Given the description of an element on the screen output the (x, y) to click on. 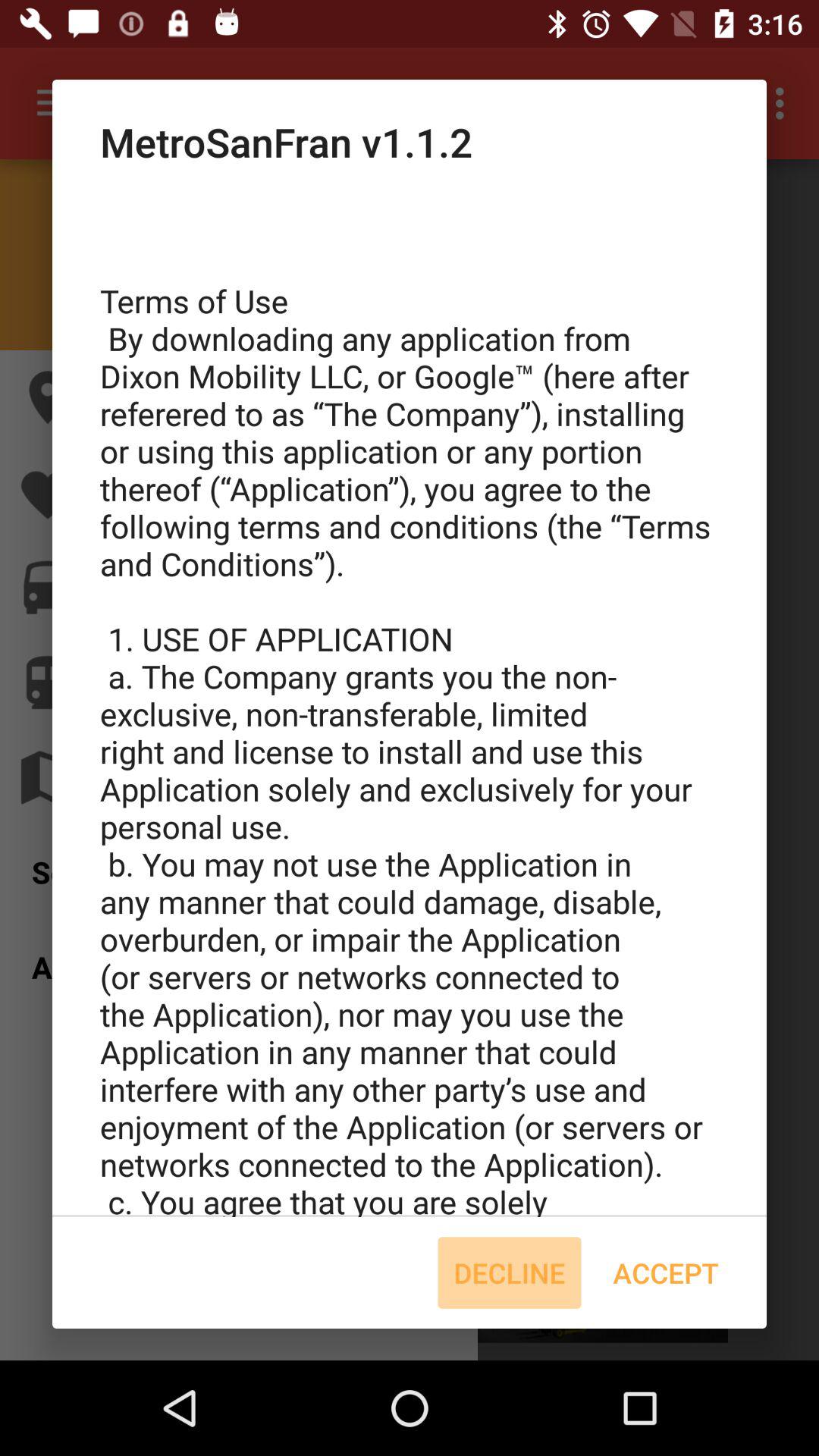
tap icon to the left of accept item (509, 1272)
